Given the description of an element on the screen output the (x, y) to click on. 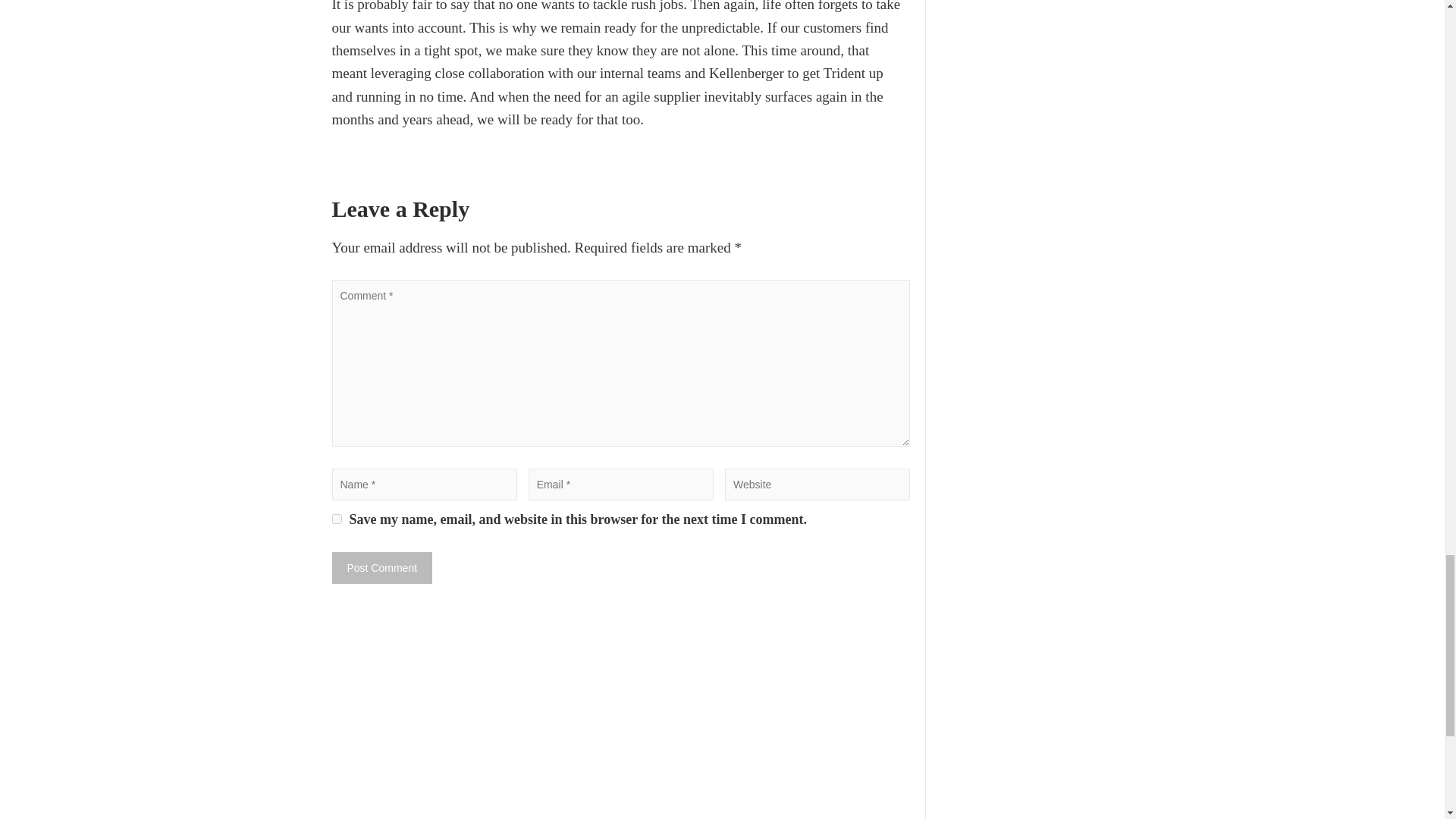
Post Comment (381, 567)
yes (336, 519)
